Given the description of an element on the screen output the (x, y) to click on. 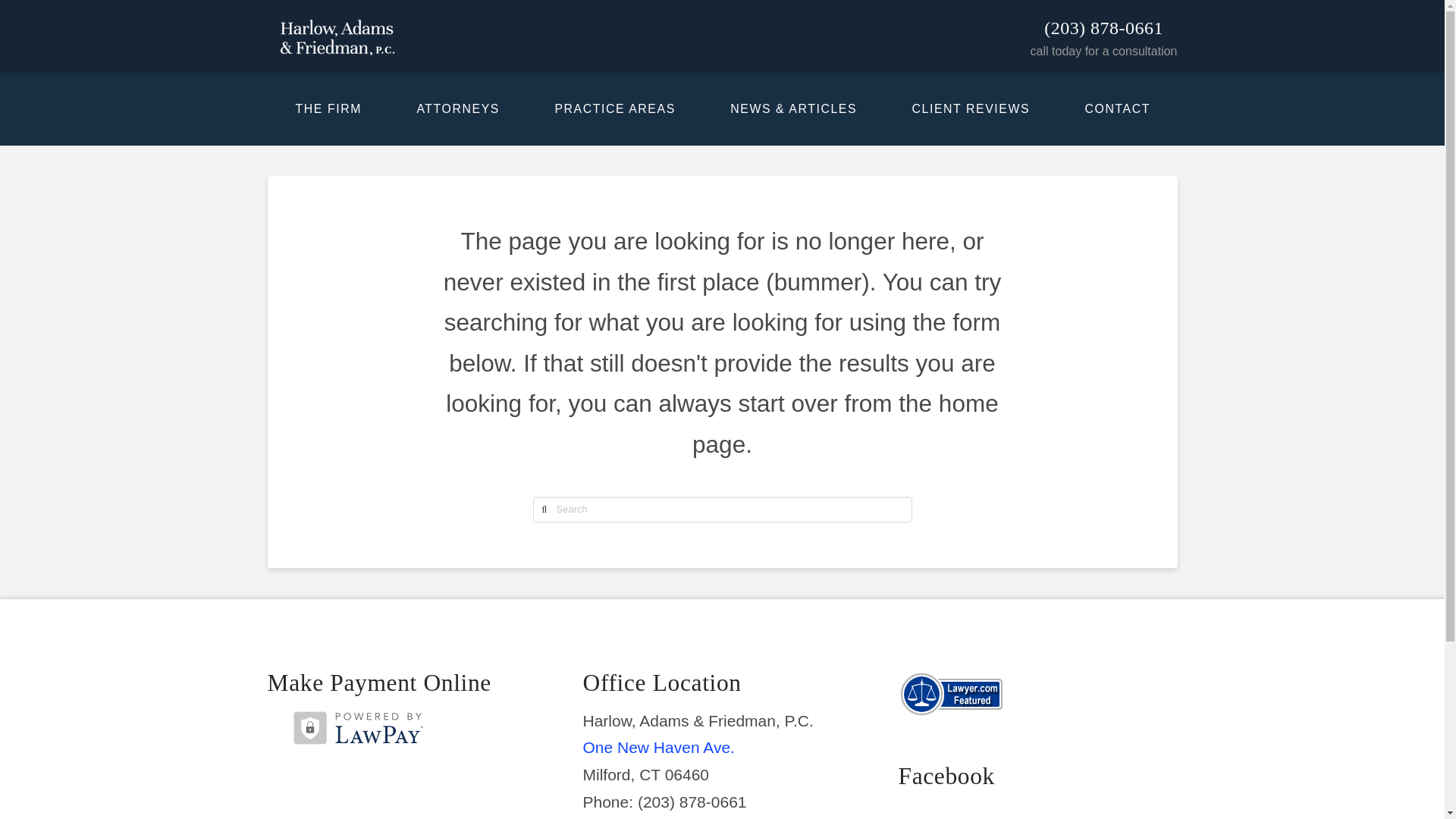
PRACTICE AREAS (614, 108)
CLIENT REVIEWS (970, 108)
One New Haven Ave. (657, 746)
CONTACT (1116, 108)
THE FIRM (327, 108)
ATTORNEYS (456, 108)
